Given the description of an element on the screen output the (x, y) to click on. 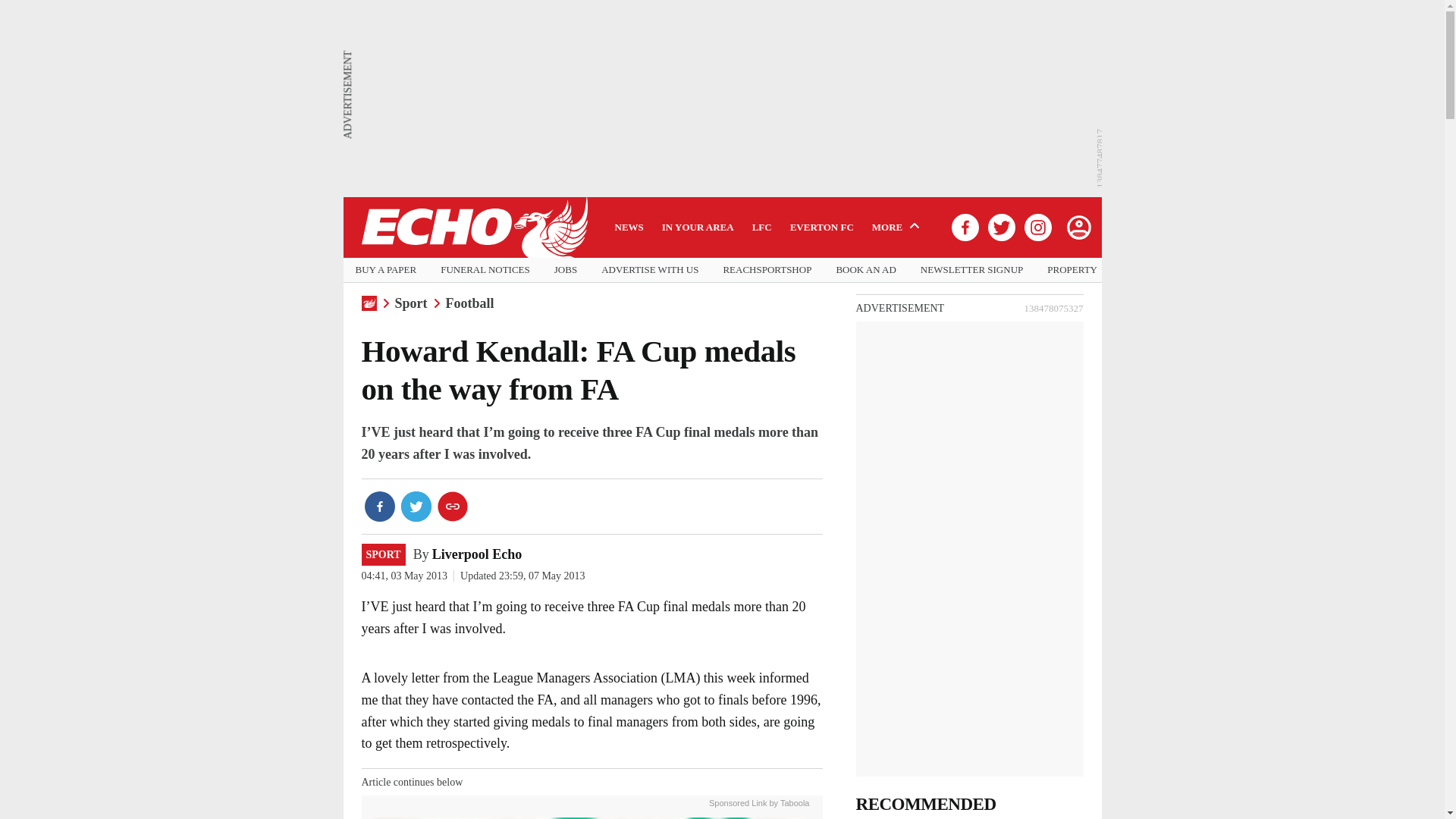
Sponsored Link (738, 801)
SPORT (382, 554)
copy link (451, 506)
Go to the Liverpool Echo homepage (473, 227)
Football (470, 303)
IN YOUR AREA (697, 227)
BOOK AN AD (865, 270)
Sport (410, 303)
REACHSPORTSHOP (766, 270)
ADVERTISE WITH US (649, 270)
JOBS (565, 270)
EVERTON FC (821, 227)
NEWSLETTER SIGNUP (971, 270)
MORE (897, 227)
